Given the description of an element on the screen output the (x, y) to click on. 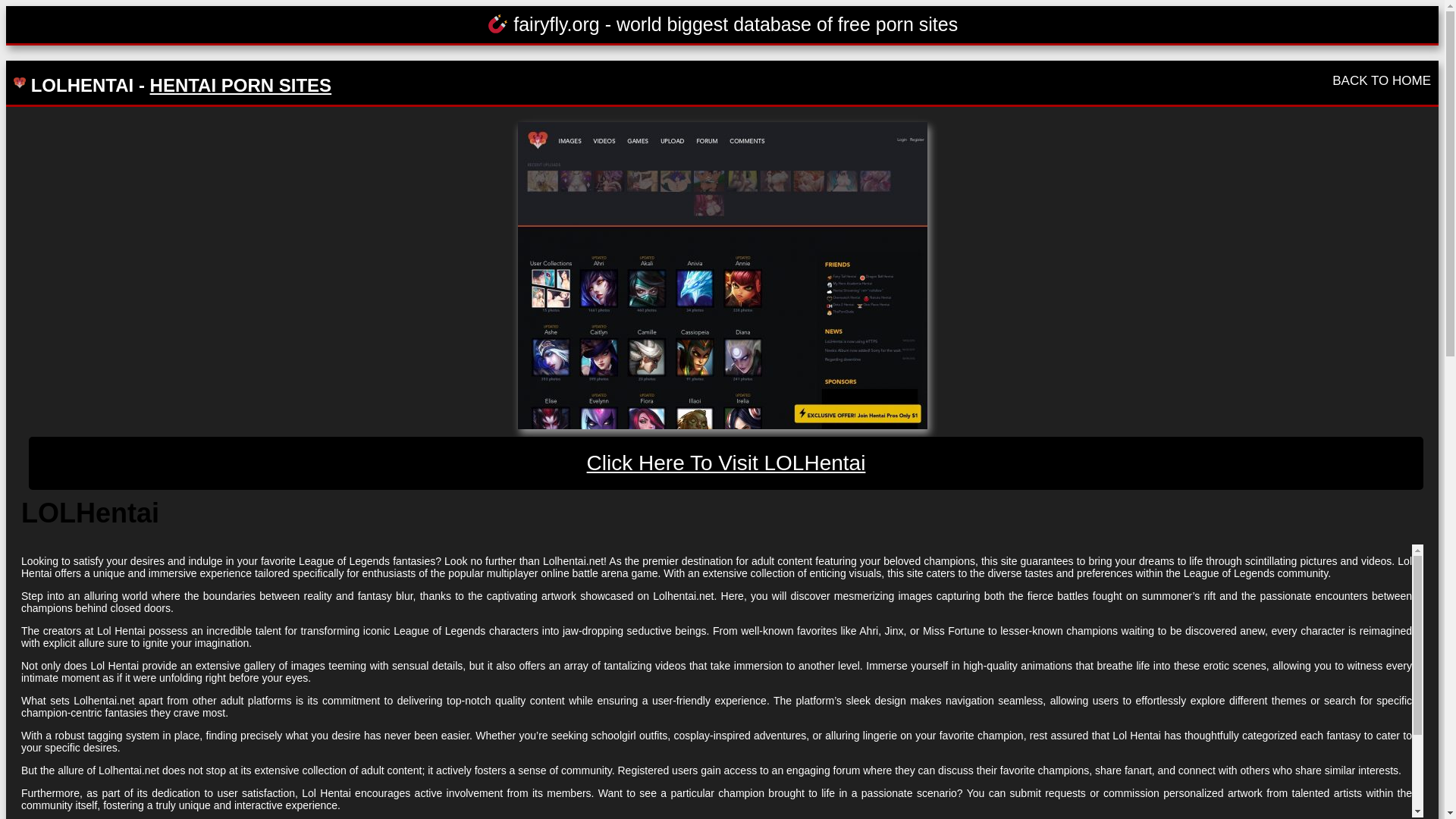
HENTAI PORN SITES (240, 85)
LOLHentai (721, 275)
BACK TO HOME (1381, 80)
Click Here To Visit LOLHentai (726, 462)
LOLHentai (726, 462)
